Given the description of an element on the screen output the (x, y) to click on. 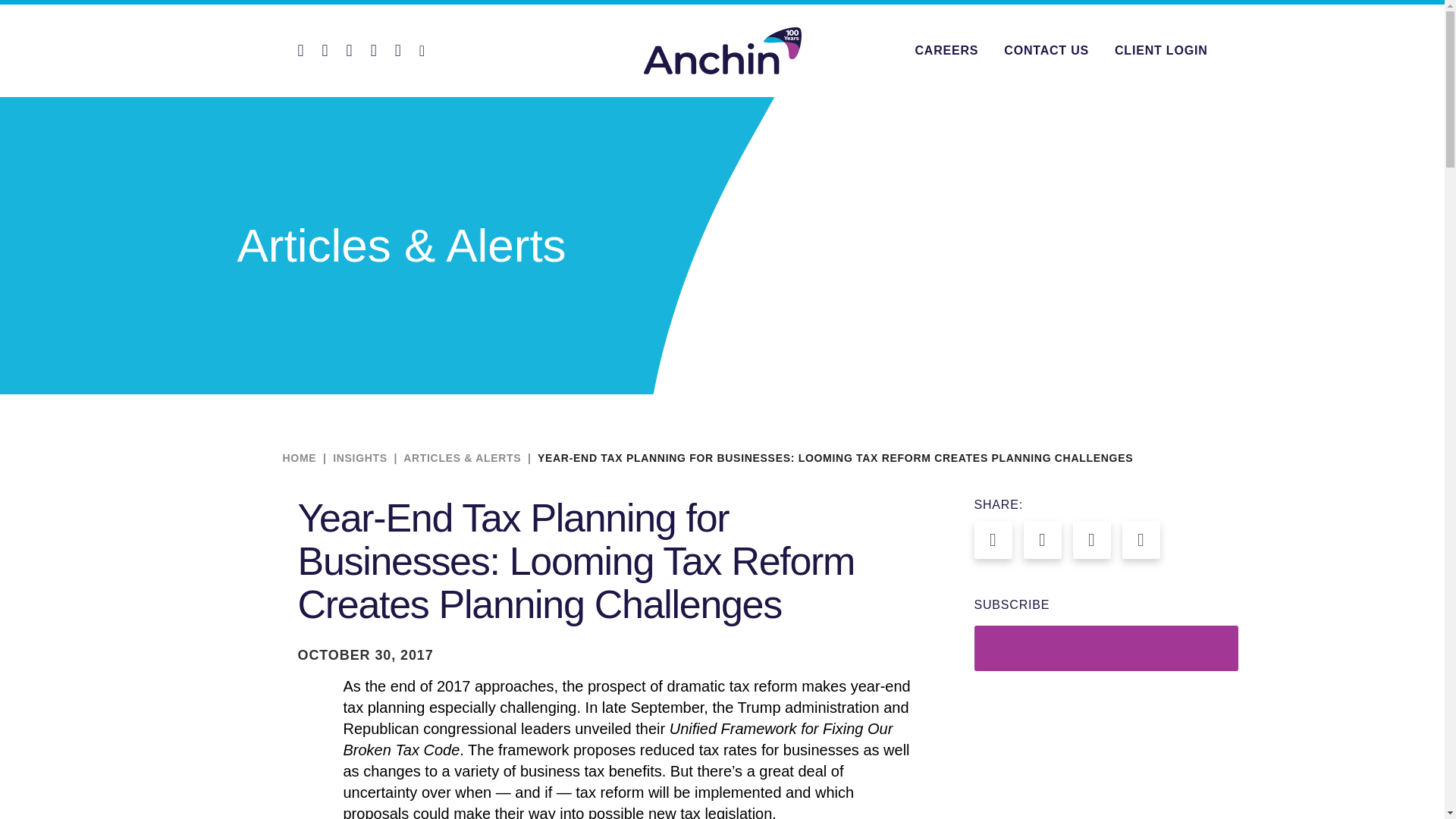
CONTACT US (1046, 50)
CLIENT LOGIN (1161, 50)
CAREERS (946, 50)
